Given the description of an element on the screen output the (x, y) to click on. 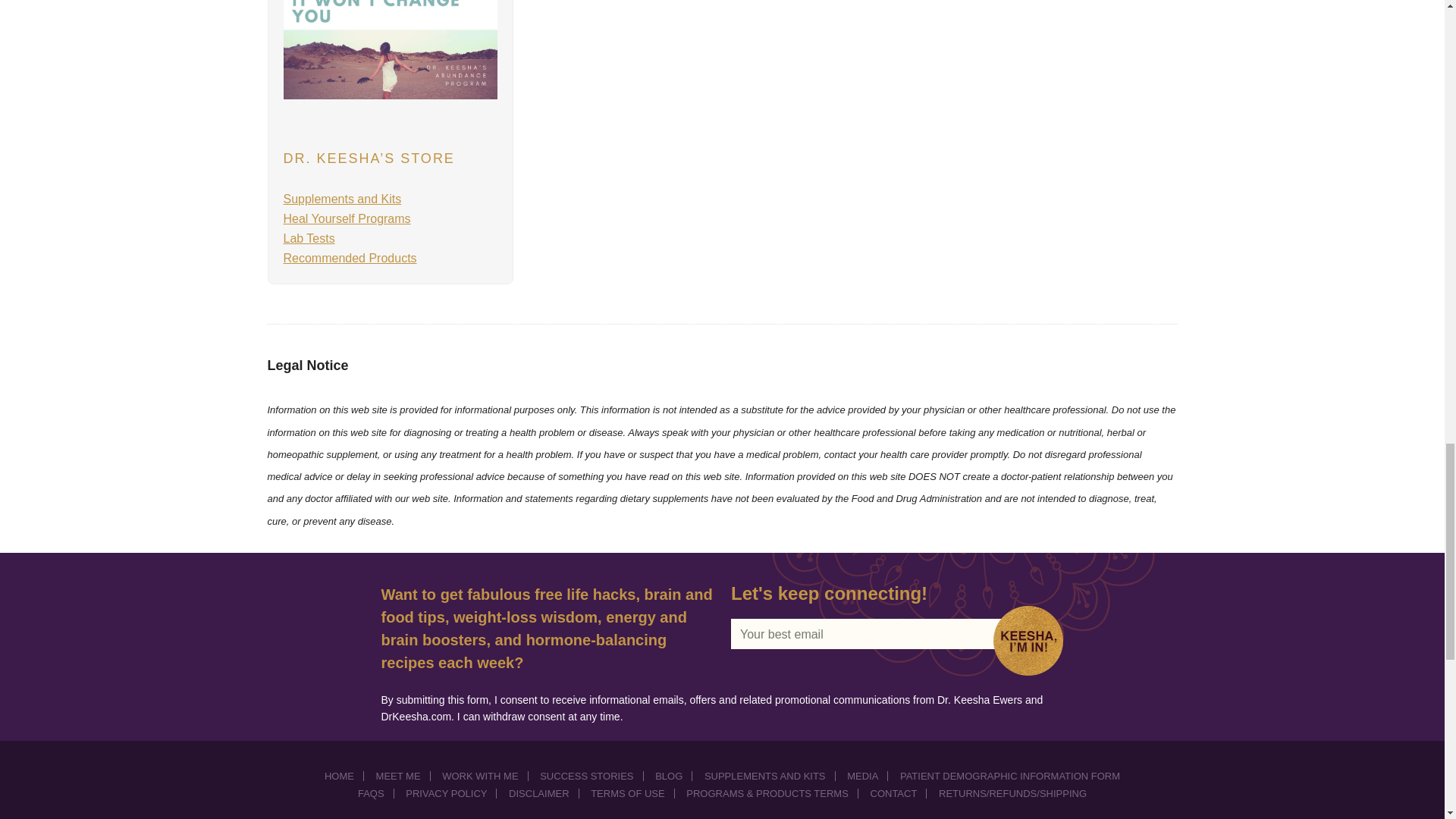
submit (1033, 639)
